Given the description of an element on the screen output the (x, y) to click on. 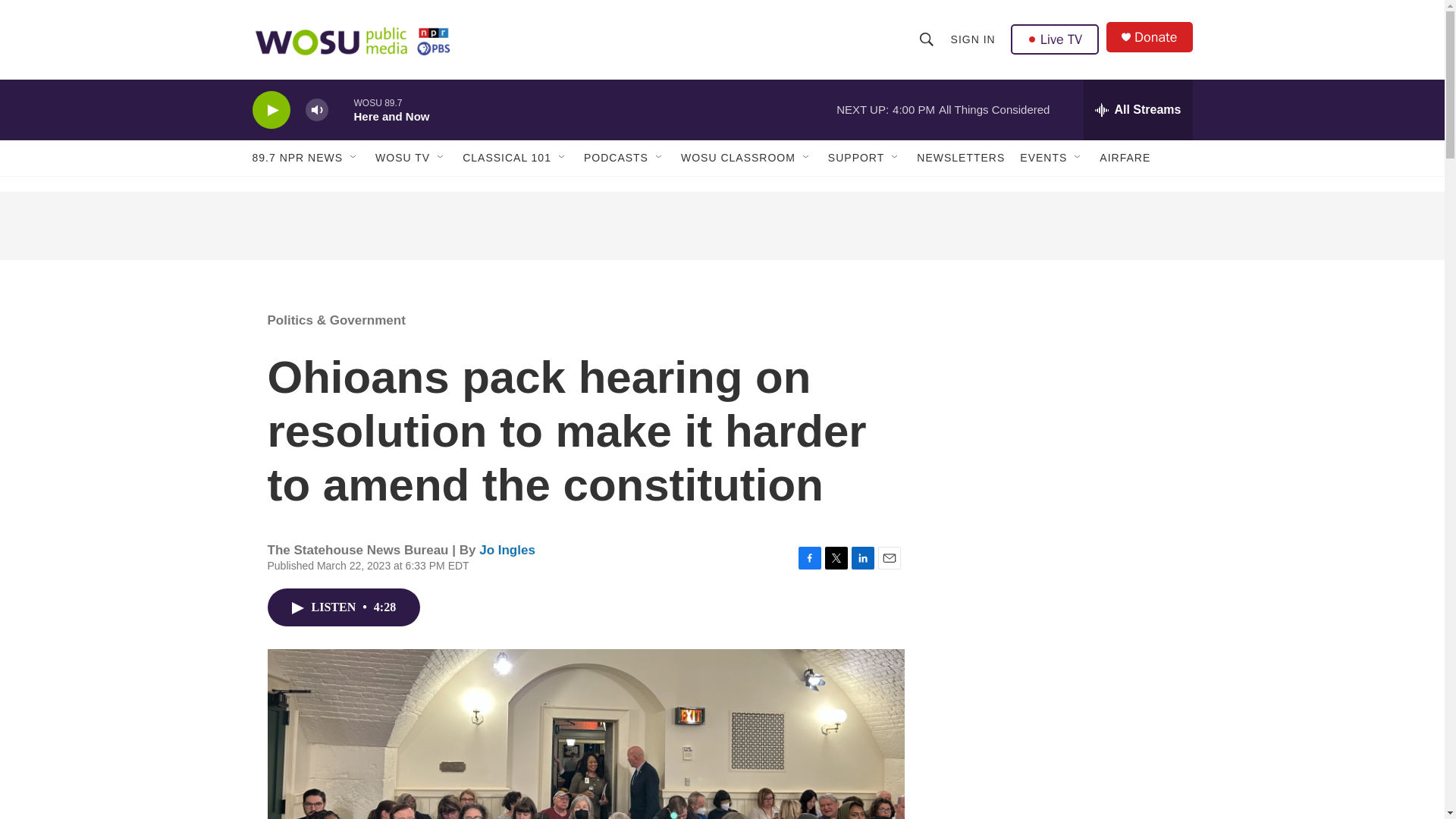
3rd party ad content (1062, 619)
3rd party ad content (1062, 400)
3rd party ad content (721, 225)
